Given the description of an element on the screen output the (x, y) to click on. 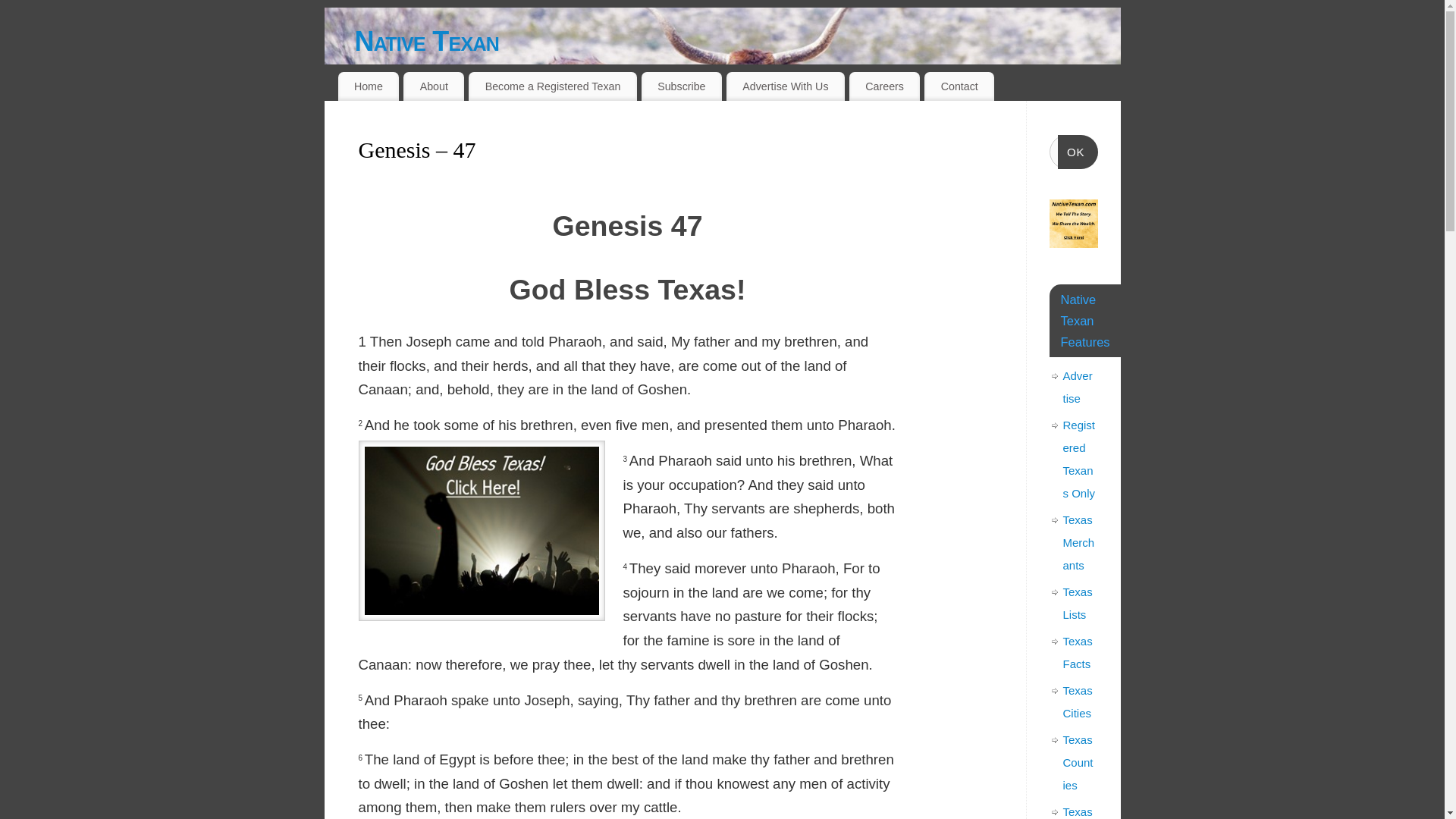
Subscribe (682, 86)
About (433, 86)
Advertise With Us (785, 86)
Texas Merchants (1078, 542)
Careers (884, 86)
Texas Cities (1077, 701)
Native Texan (738, 41)
Become a Registered Texan (552, 86)
Registered Texans Only (1079, 458)
Native Texan (738, 41)
Texas Lists (1077, 602)
OK (1077, 151)
Contact (959, 86)
Texas Facts (1077, 652)
Advertise (1077, 386)
